Given the description of an element on the screen output the (x, y) to click on. 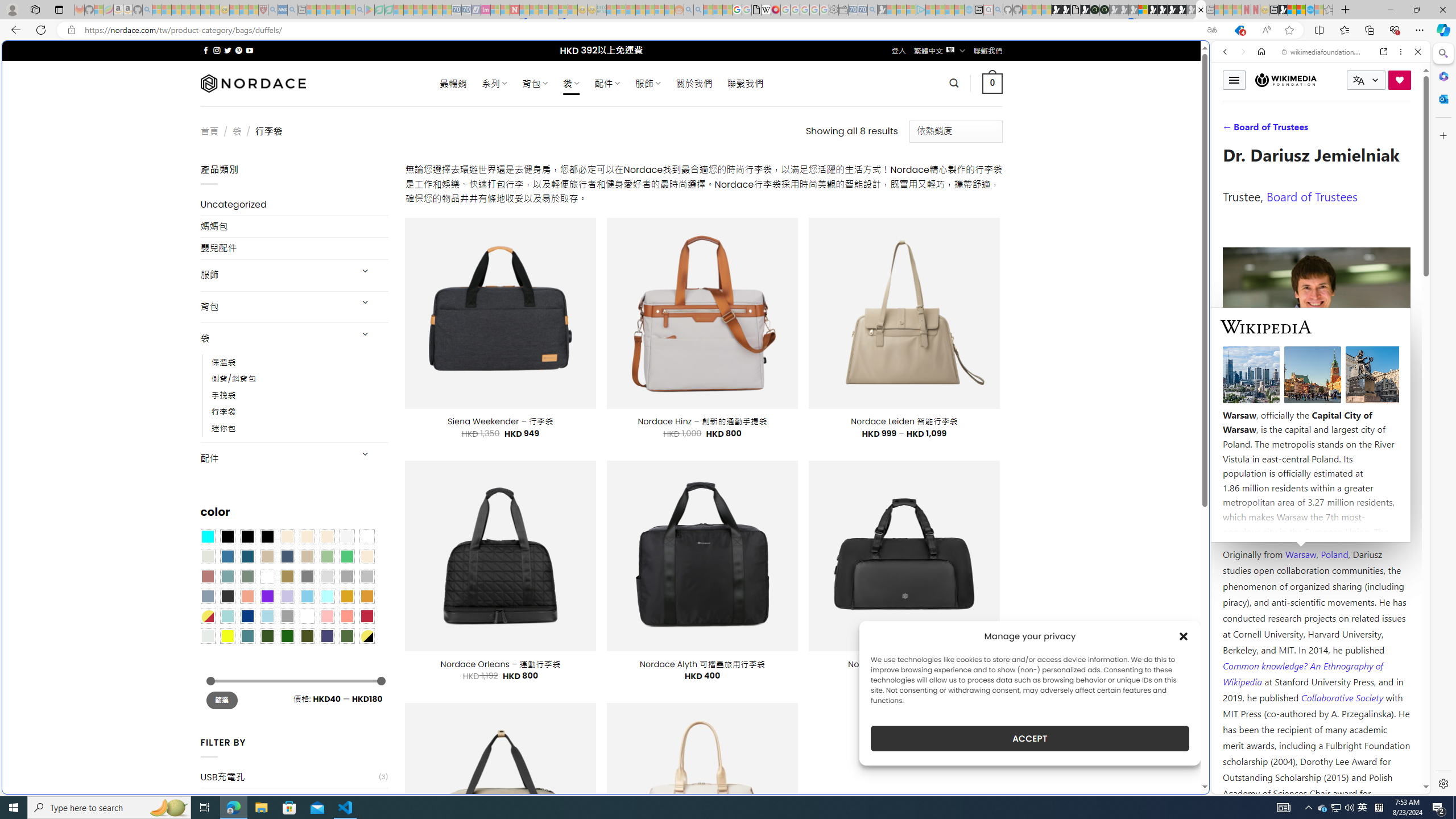
CURRENT LANGUAGE: (1366, 80)
Wikimedia Foundation (1286, 79)
Sign in to your account (1143, 9)
